Given the description of an element on the screen output the (x, y) to click on. 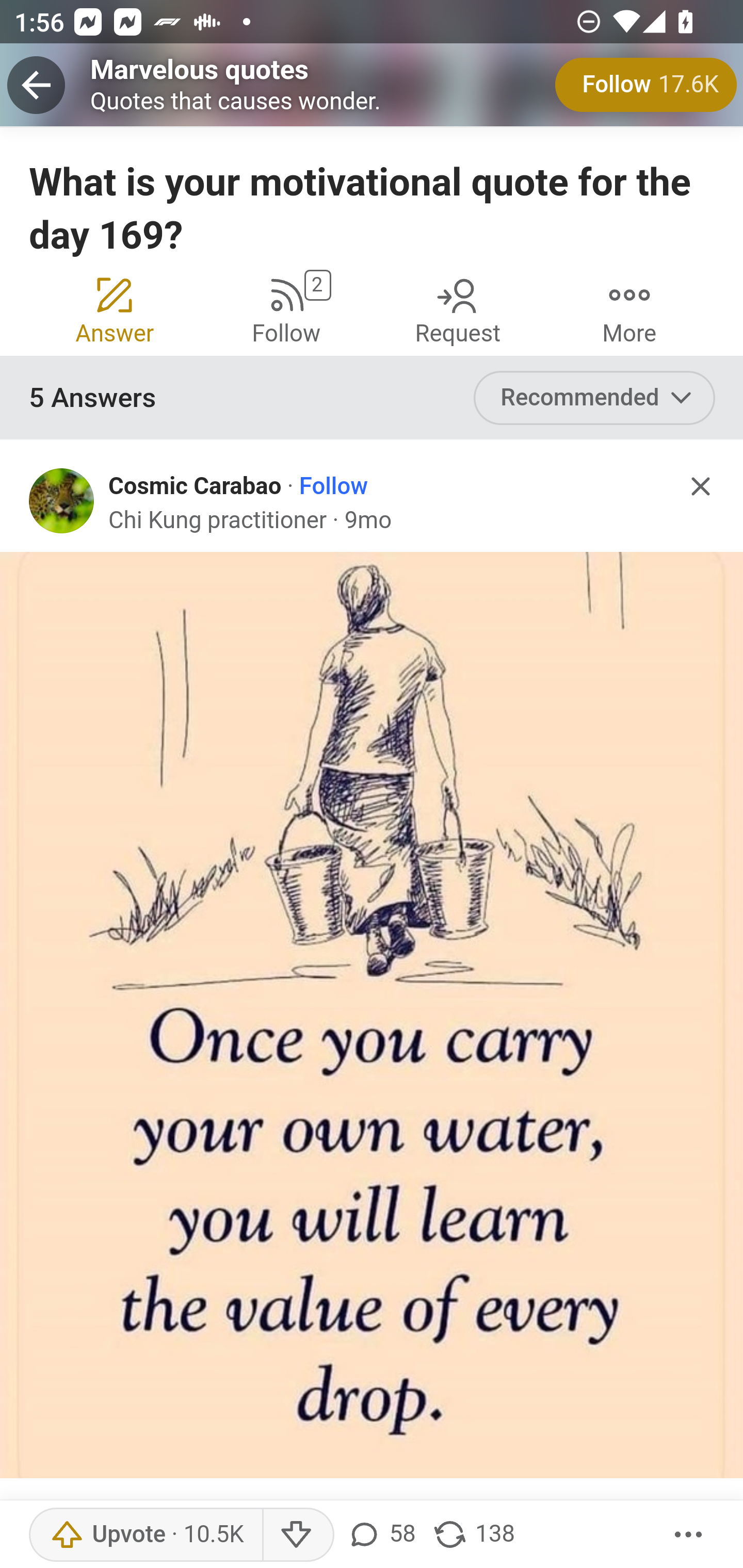
Marvelous quotes (200, 68)
Follow 17.6K (646, 85)
Answer (115, 308)
2 Follow (285, 308)
Request (458, 308)
More (628, 308)
Recommended (594, 398)
Hide (700, 486)
Profile photo for Cosmic Carabao (61, 500)
Cosmic Carabao (194, 486)
Follow (333, 486)
9mo 9 mo (368, 519)
main-qimg-59dca475c04e9c370b52487ecc0a79e8 (372, 1015)
Upvote (145, 1534)
Downvote (298, 1534)
58 comments (379, 1534)
138 shares (473, 1534)
More (688, 1534)
